Given the description of an element on the screen output the (x, y) to click on. 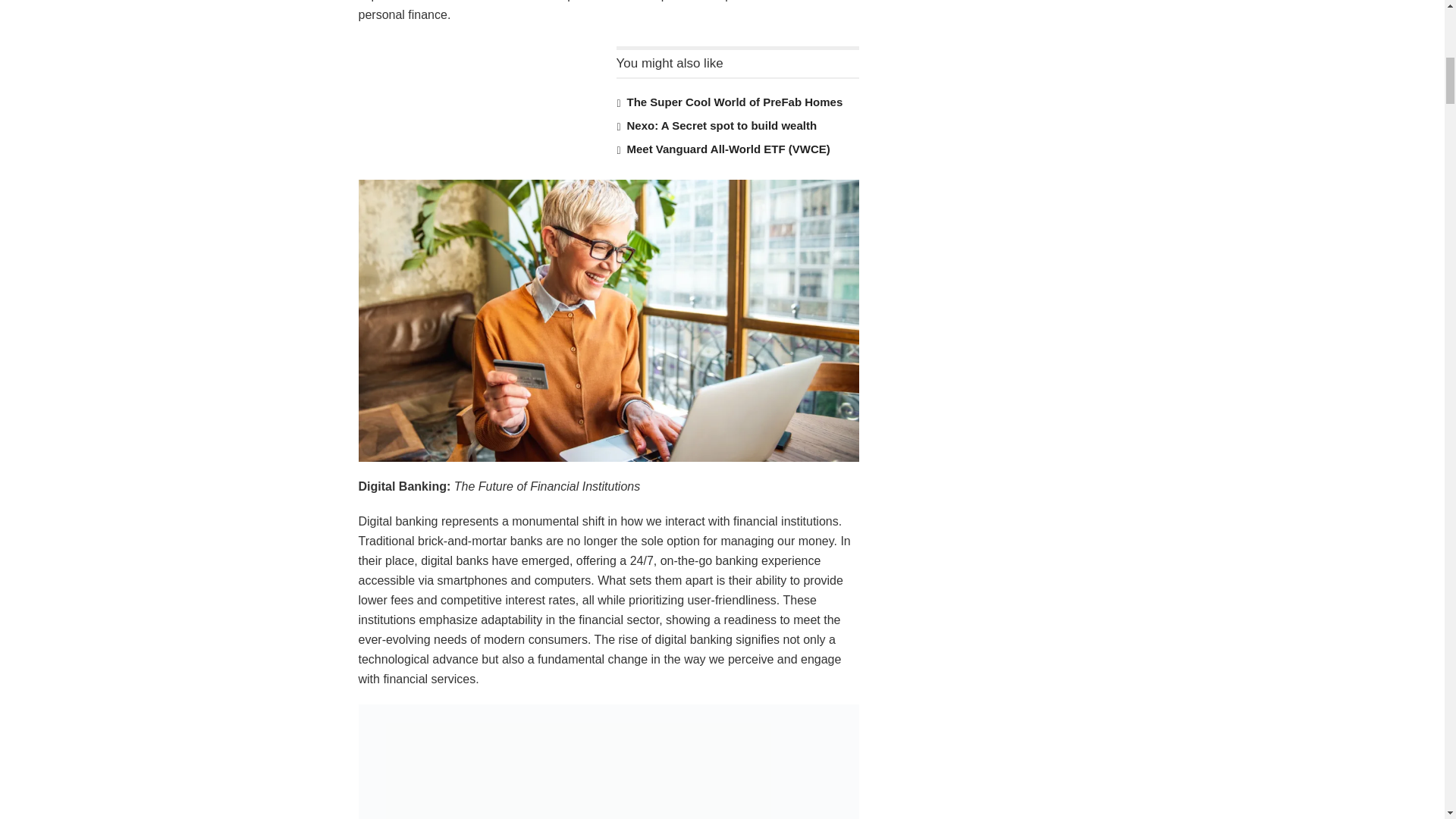
The Super Cool World of PreFab Homes (734, 101)
